Given the description of an element on the screen output the (x, y) to click on. 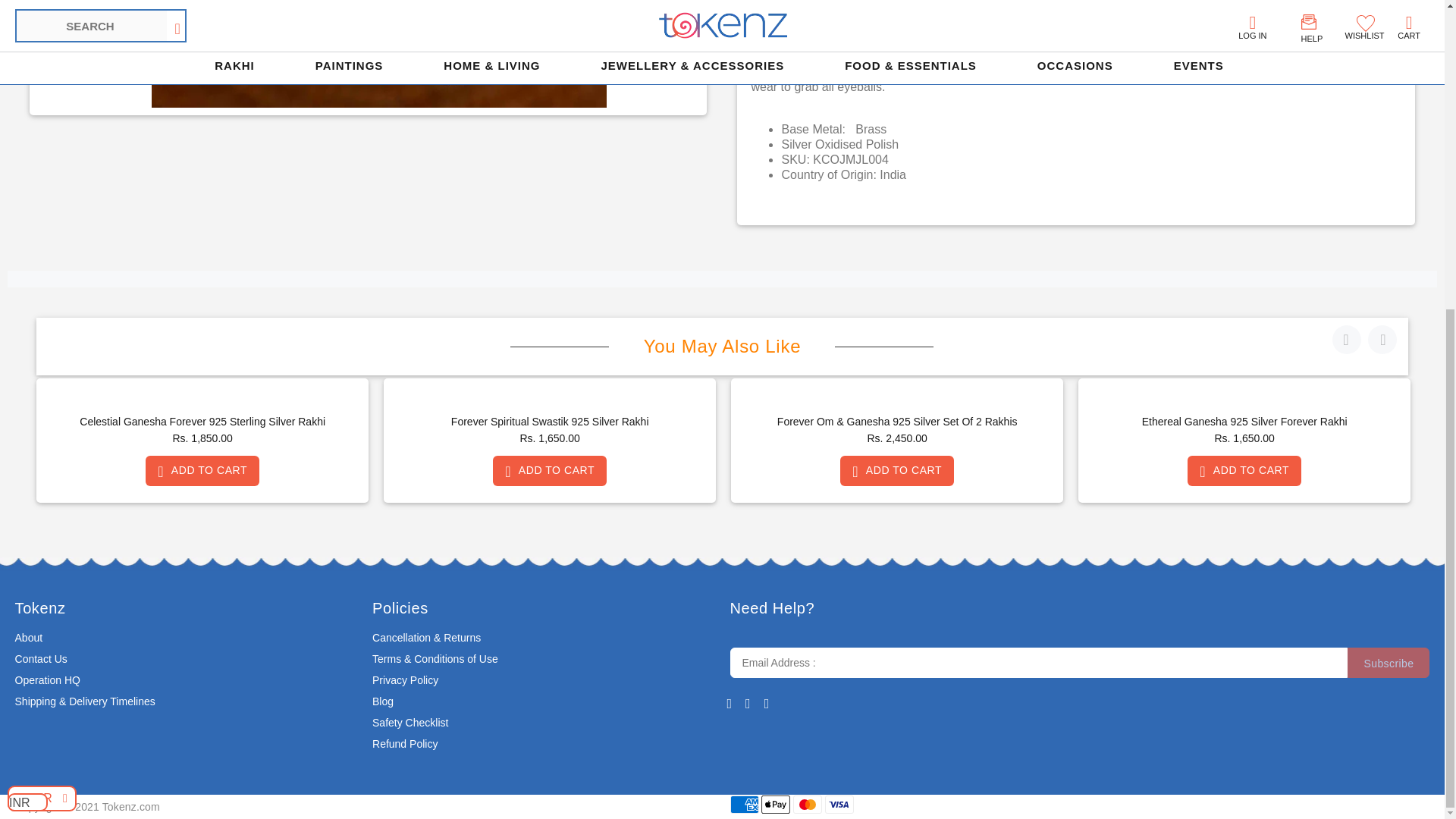
American Express (743, 804)
Mastercard (807, 804)
Visa (839, 804)
Apple Pay (775, 804)
